Given the description of an element on the screen output the (x, y) to click on. 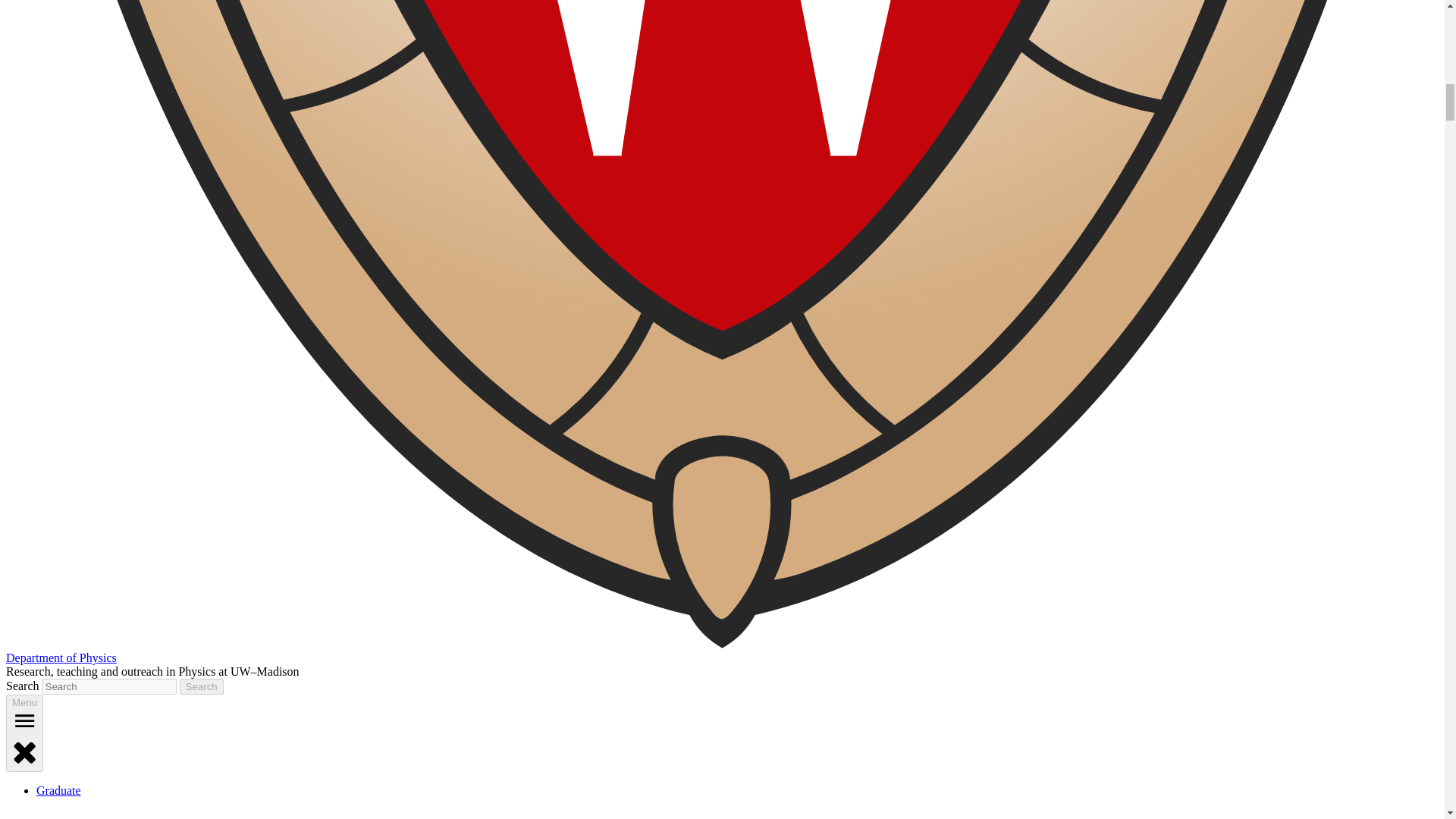
Department of Physics (60, 657)
Search (201, 686)
Search (201, 686)
open menu (24, 720)
Search (201, 686)
